Given the description of an element on the screen output the (x, y) to click on. 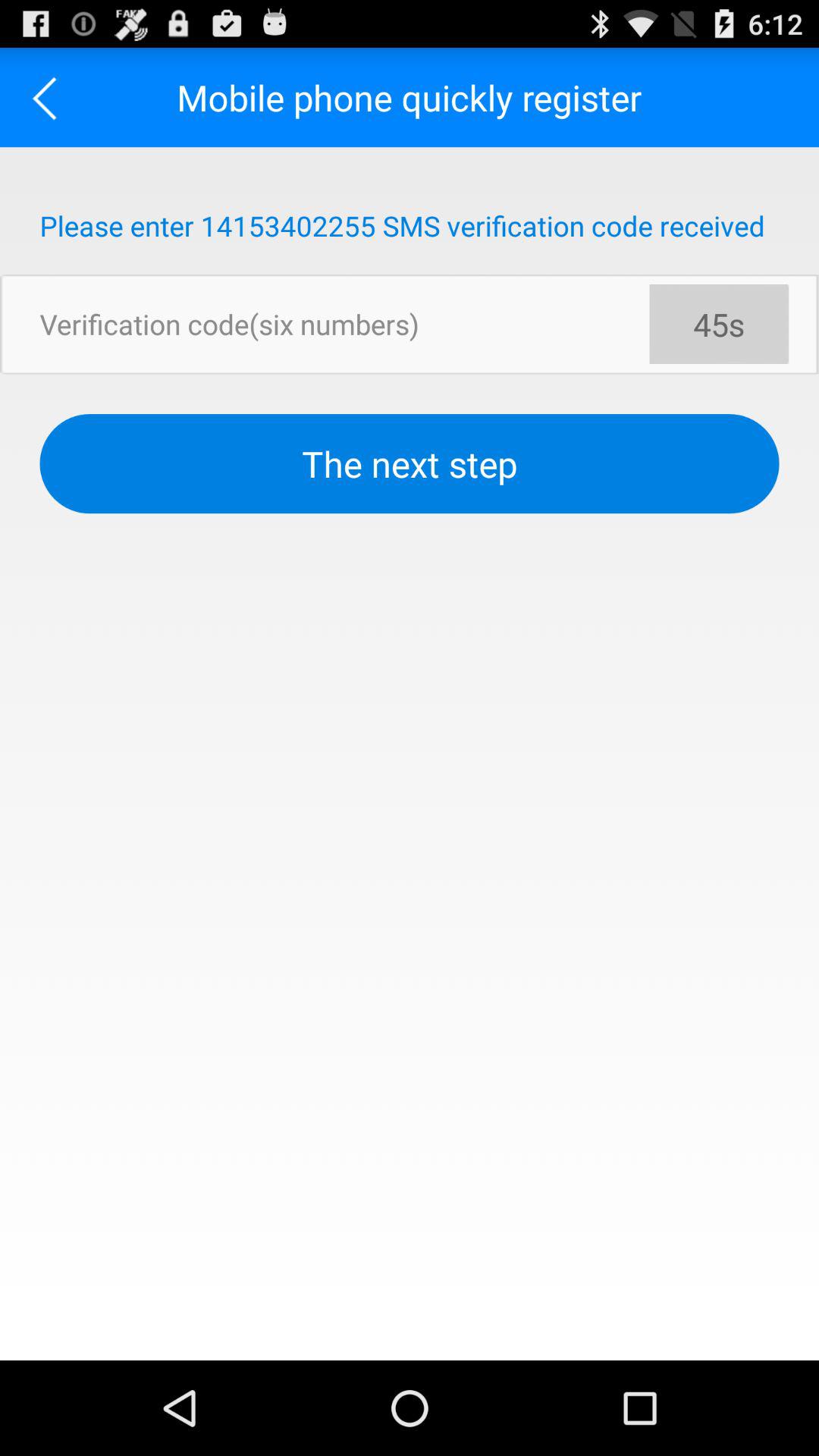
turn off the icon next to mobile phone quickly app (49, 97)
